Given the description of an element on the screen output the (x, y) to click on. 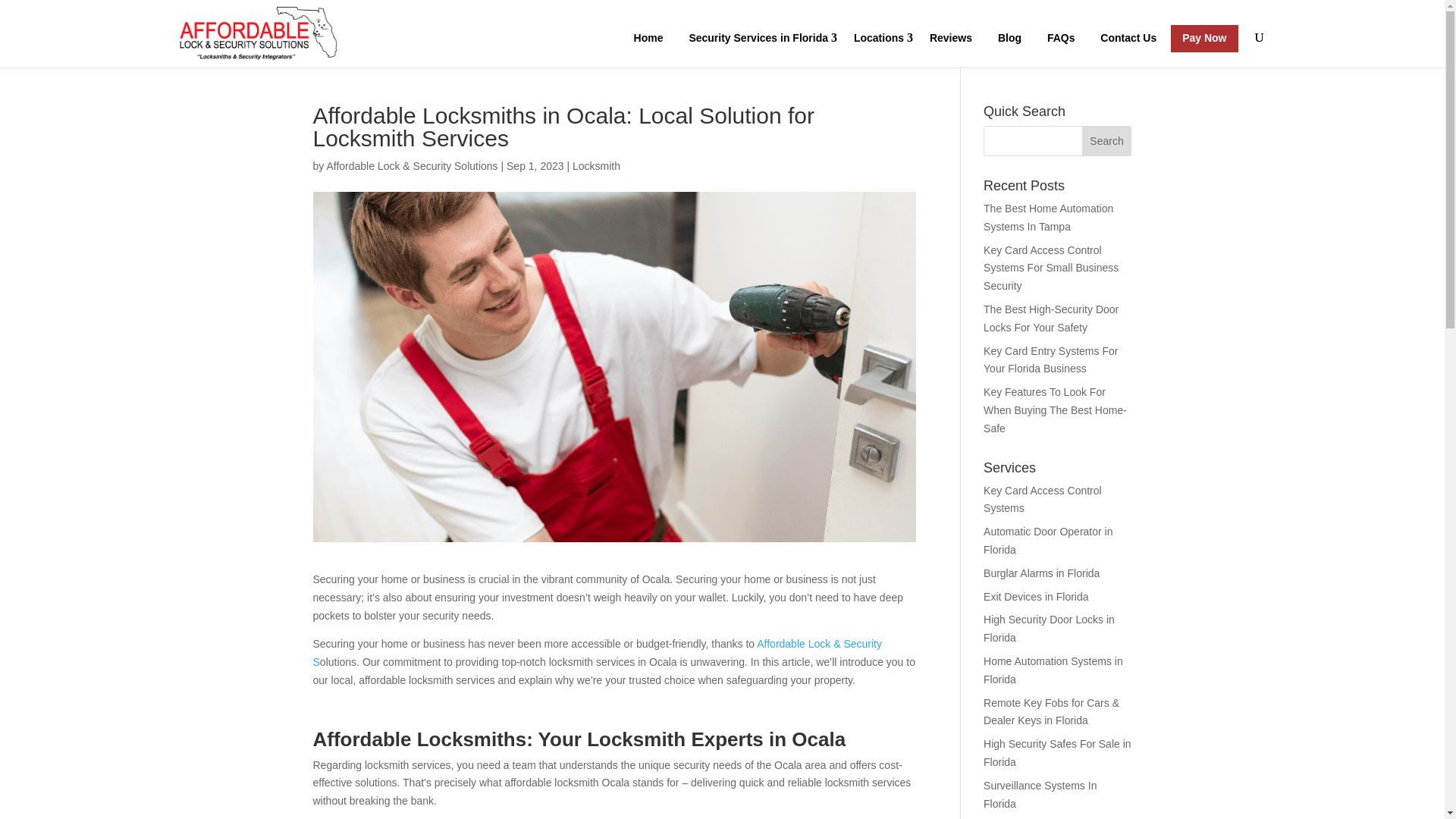
Search (1106, 141)
FAQs (1060, 38)
Blog (1009, 38)
Contact Us (1128, 38)
Home (649, 38)
Pay Now (1203, 38)
Security Services in Florida (758, 38)
Reviews (951, 38)
Locksmith (596, 165)
Locations (879, 38)
